Given the description of an element on the screen output the (x, y) to click on. 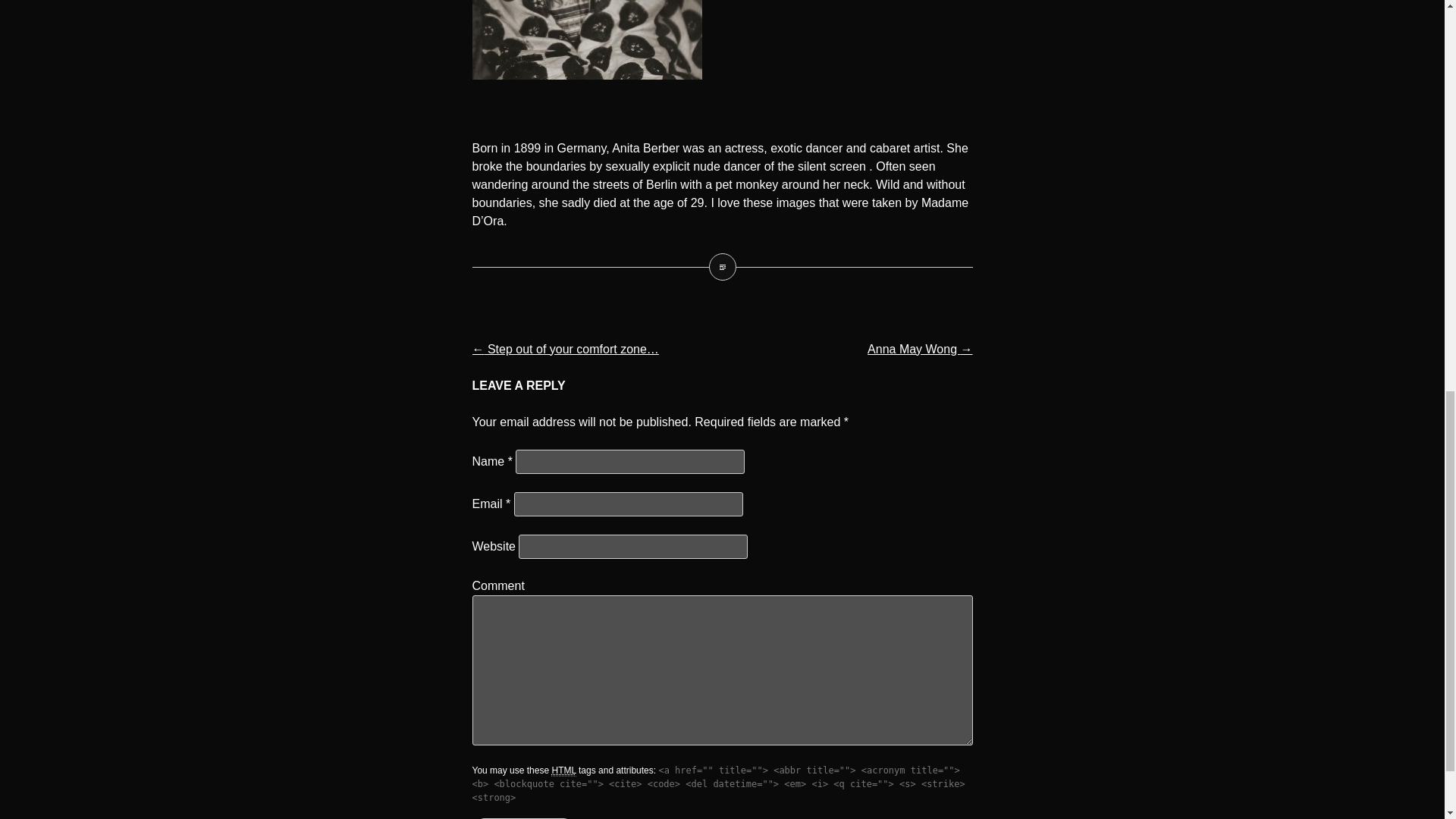
Anita Berber (721, 266)
HyperText Markup Language (563, 770)
